Given the description of an element on the screen output the (x, y) to click on. 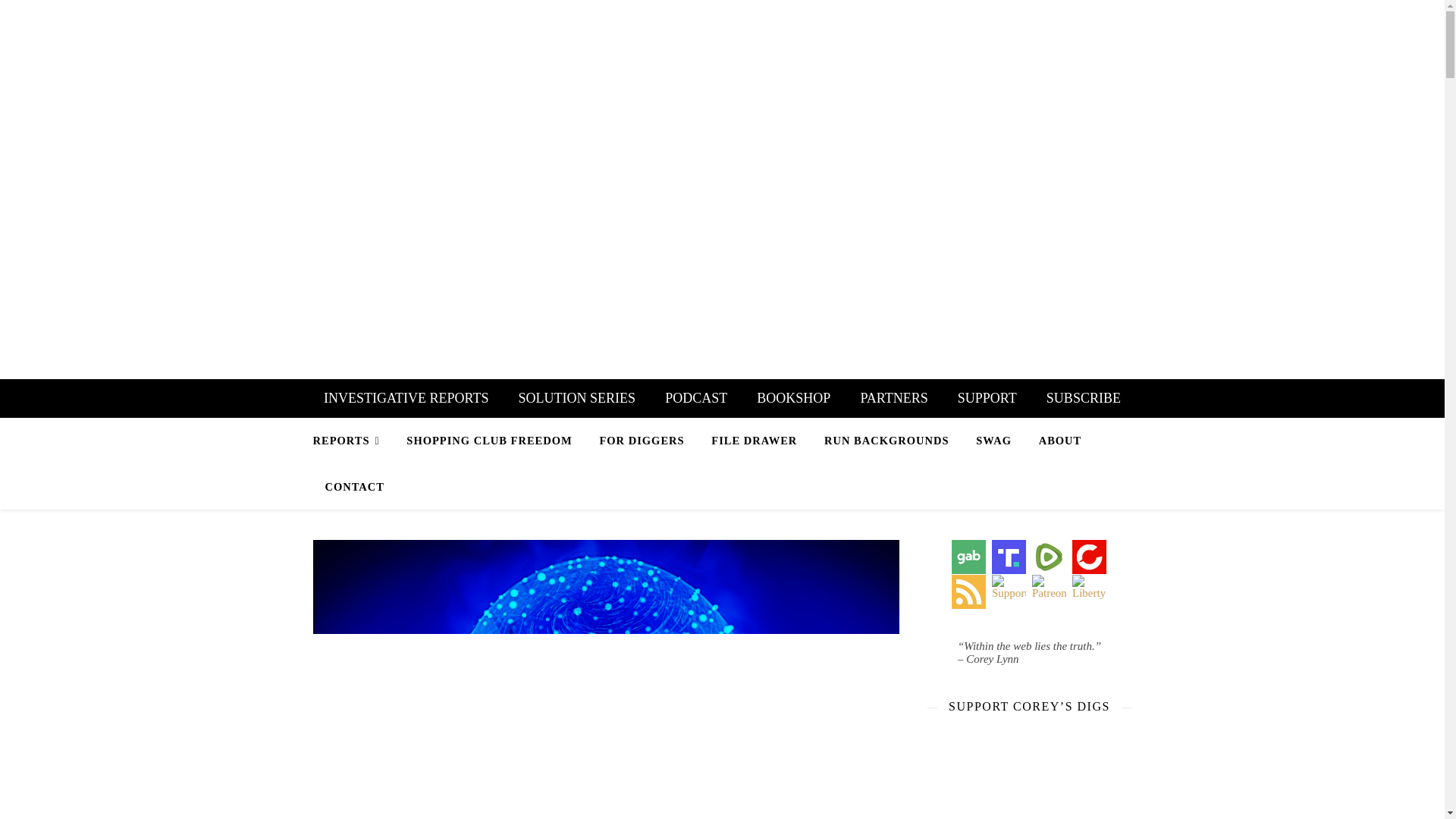
ABOUT (1060, 440)
REPORTS (352, 440)
PARTNERS (893, 398)
CONTACT (348, 486)
SUPPORT (986, 398)
FILE DRAWER (753, 440)
SWAG (993, 440)
SUBSCRIBE (1083, 398)
BOOKSHOP (793, 398)
INVESTIGATIVE REPORTS (406, 398)
